Given the description of an element on the screen output the (x, y) to click on. 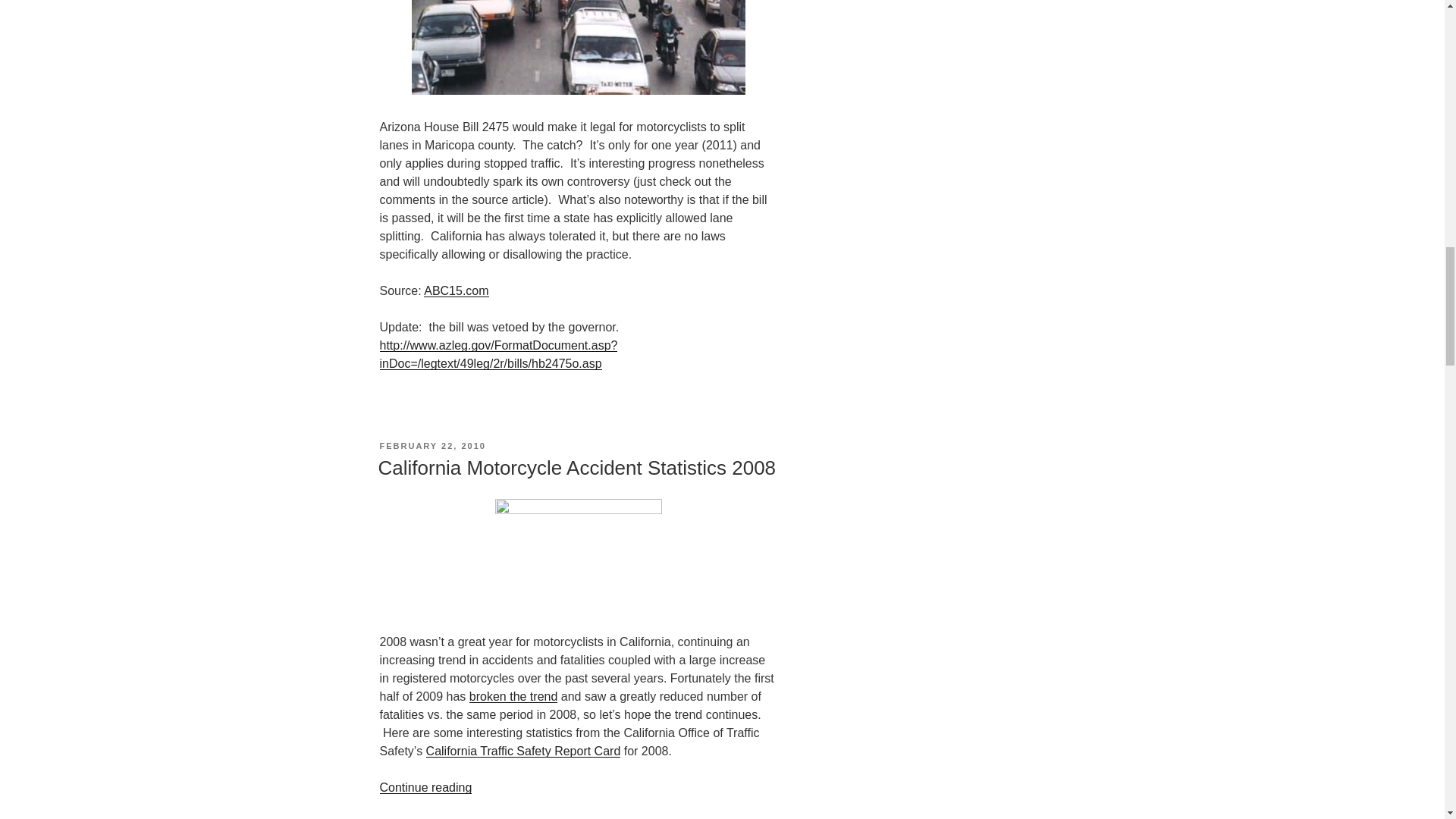
California Motorcycle Accident Statistics 2008 (576, 467)
broken the trend (512, 696)
ABC15.com (455, 290)
splitters (578, 47)
California Traffic Safety Report Card (523, 750)
FEBRUARY 22, 2010 (431, 445)
